Given the description of an element on the screen output the (x, y) to click on. 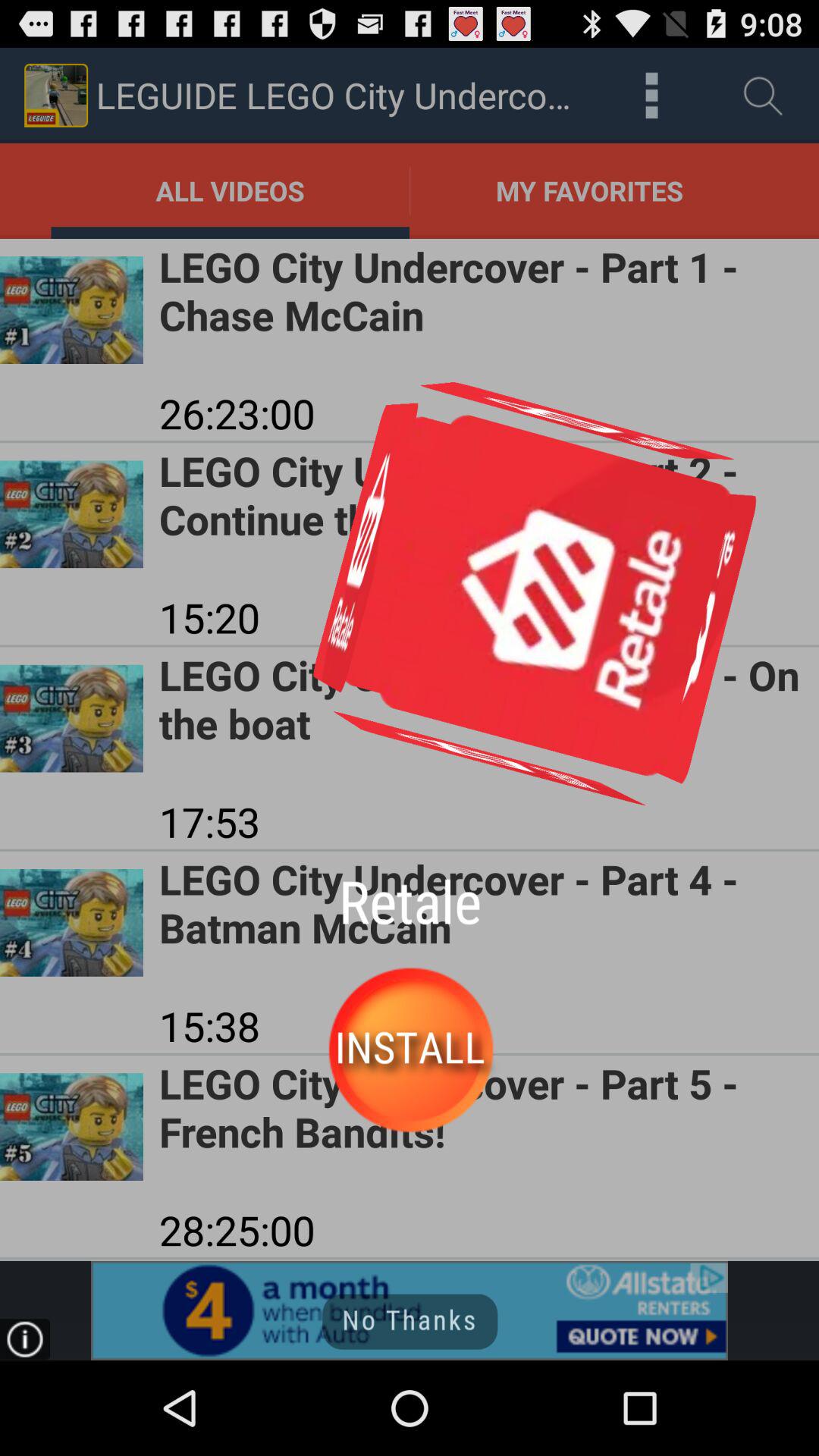
more options (651, 95)
